Given the description of an element on the screen output the (x, y) to click on. 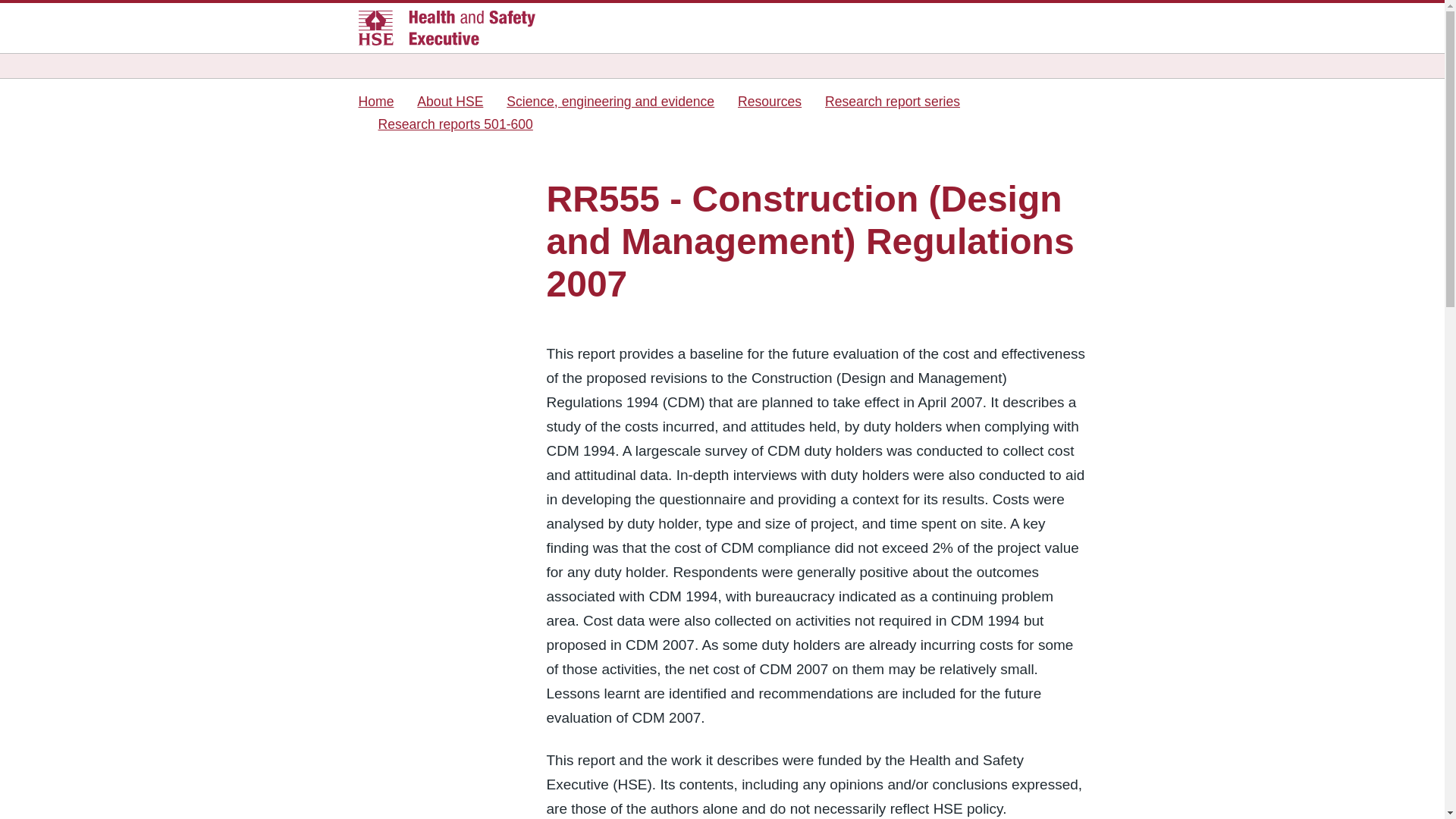
Science, engineering and evidence (610, 101)
Research report series (892, 101)
Resources (770, 101)
Home (375, 101)
Skip to content (30, 9)
About HSE (449, 101)
Research reports 501-600 (454, 124)
